Given the description of an element on the screen output the (x, y) to click on. 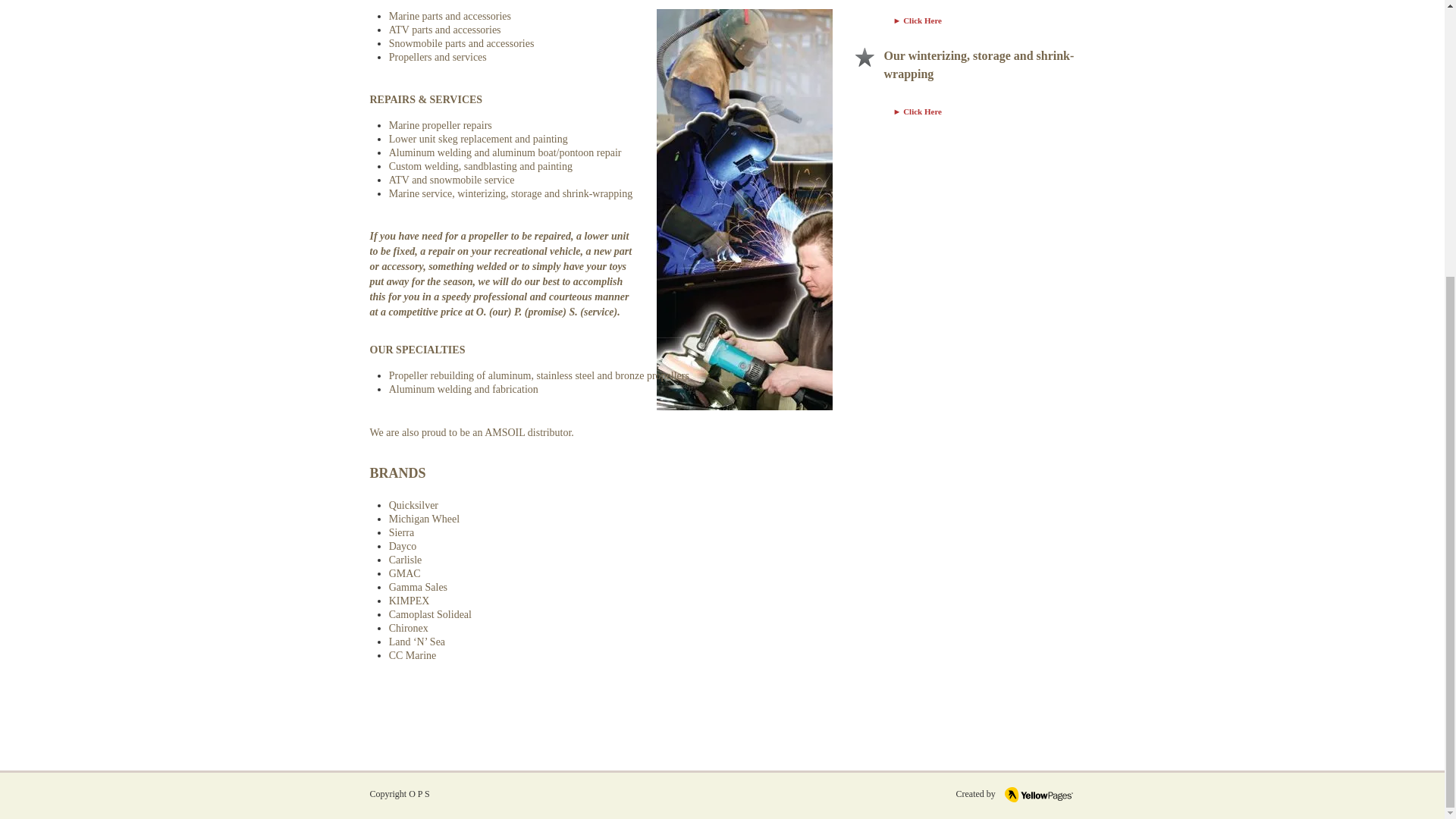
O P S (419, 793)
